Given the description of an element on the screen output the (x, y) to click on. 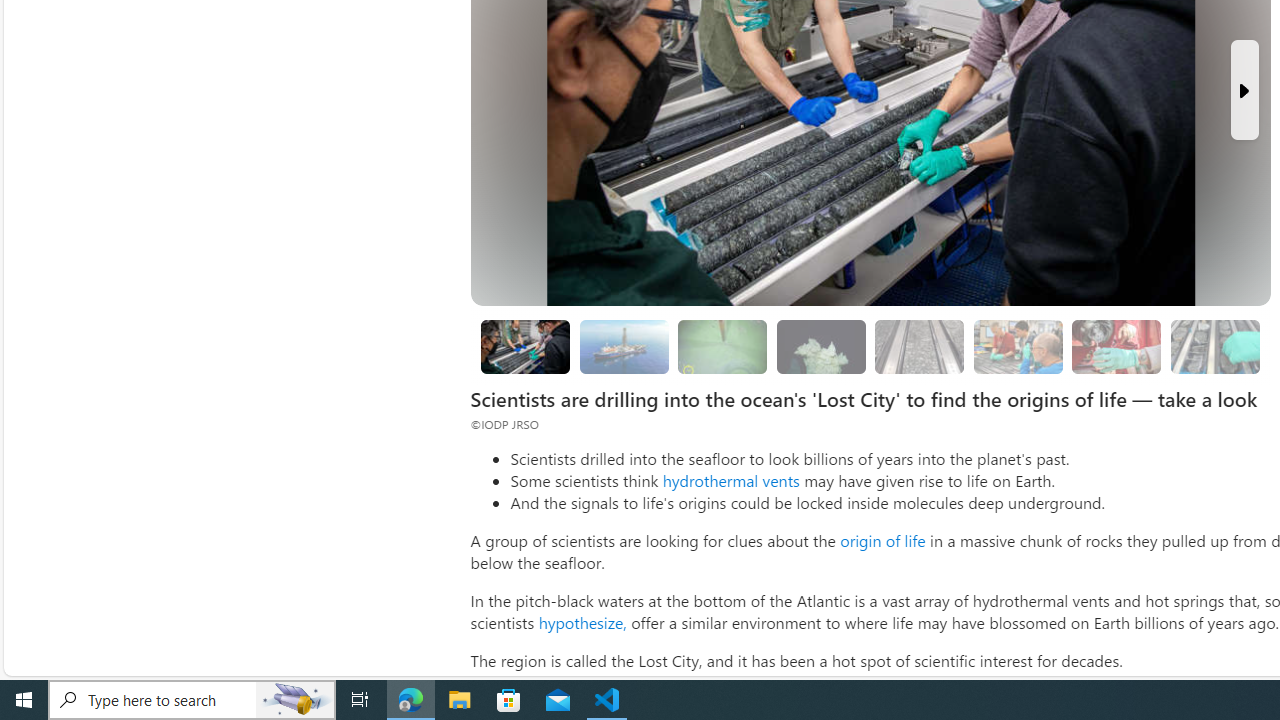
Class: progress (1214, 343)
Researchers are still studying the samples (1214, 346)
hydrothermal vents (730, 480)
Looking for evidence of oxygen-free life (1017, 346)
The Lost City could hold clues to the origin of life. (820, 346)
Researchers are still studying the samples (1214, 346)
The Lost City could hold clues to the origin of life. (820, 346)
Looking for evidence of oxygen-free life (1017, 346)
